Given the description of an element on the screen output the (x, y) to click on. 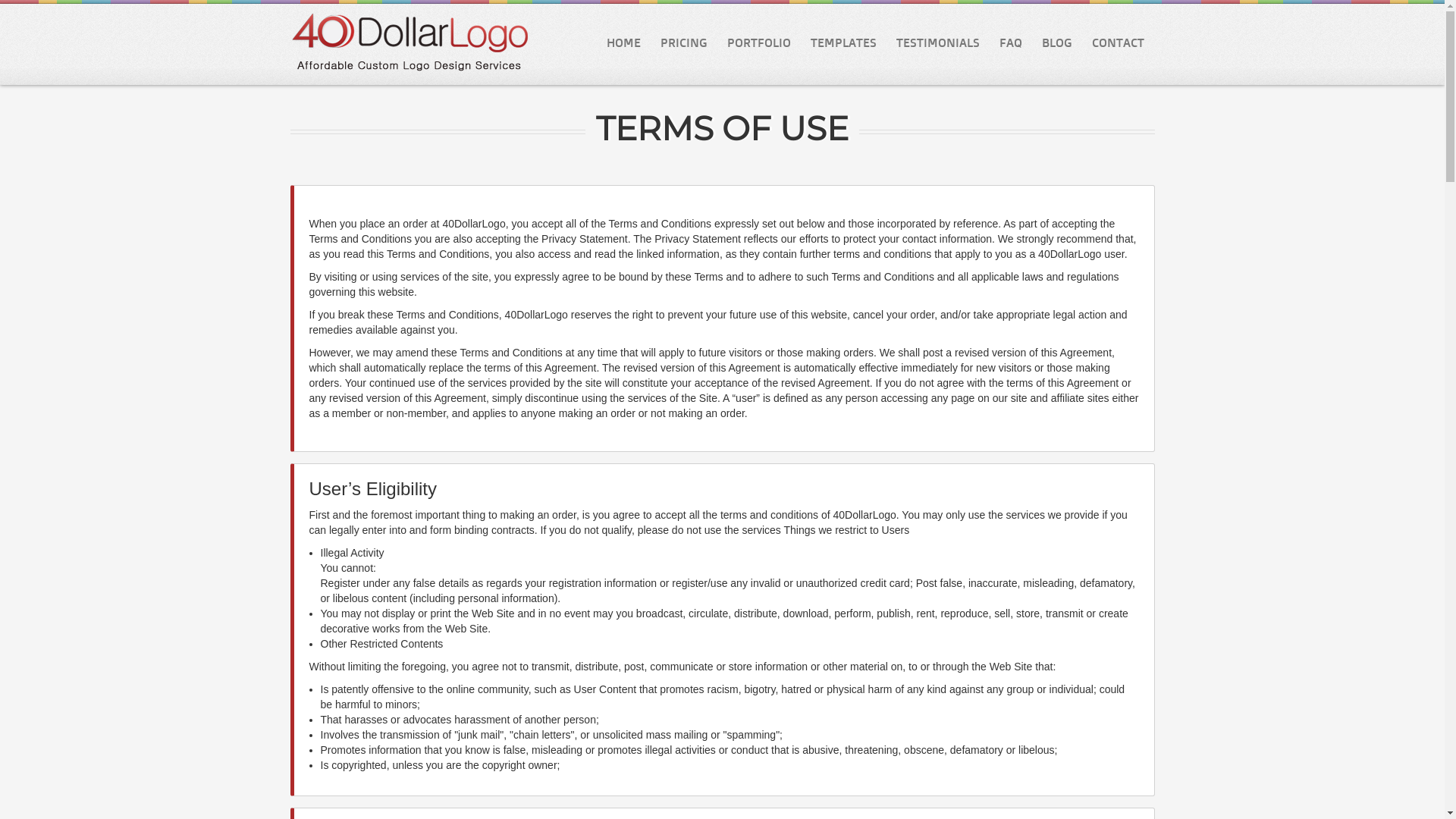
FAQ Element type: text (1009, 42)
CONTACT Element type: text (1117, 42)
HOME Element type: text (622, 42)
PRICING Element type: text (683, 42)
TEMPLATES Element type: text (843, 42)
BLOG Element type: text (1056, 42)
TESTIMONIALS Element type: text (936, 42)
PORTFOLIO Element type: text (758, 42)
